Given the description of an element on the screen output the (x, y) to click on. 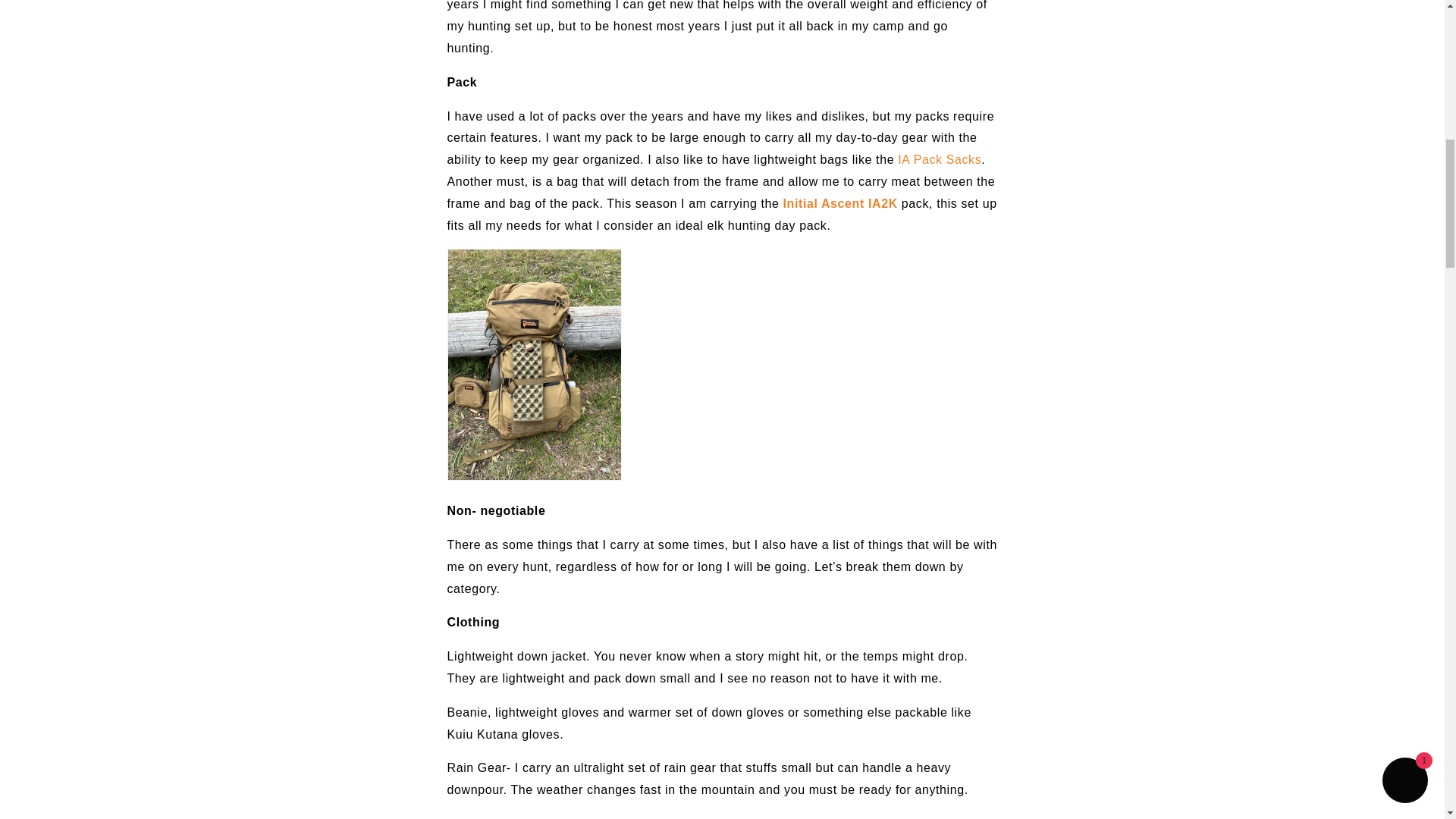
IA Pack Sacks (937, 159)
